Given the description of an element on the screen output the (x, y) to click on. 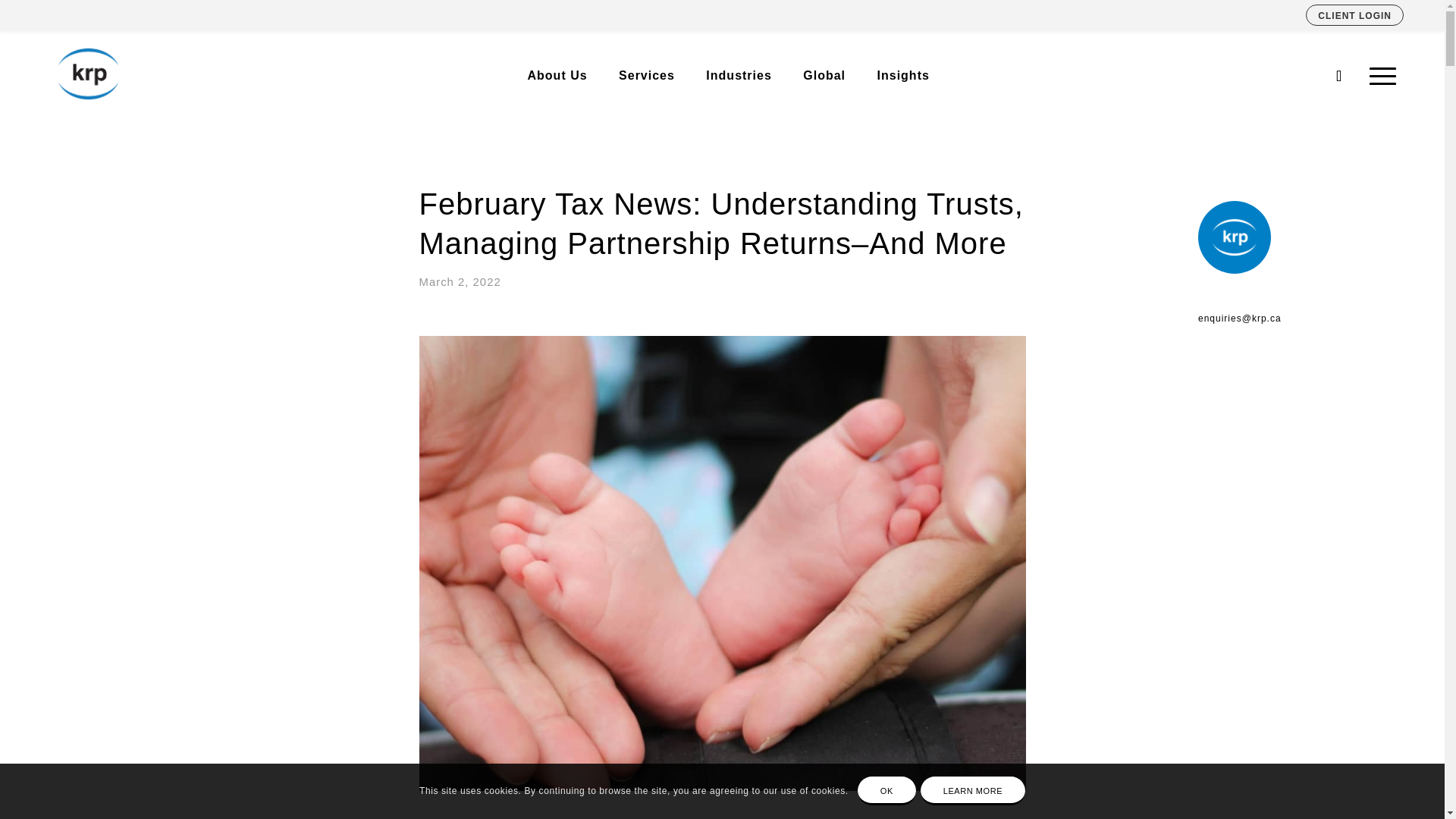
Services (646, 75)
Industries (738, 75)
About Us (557, 75)
